Given the description of an element on the screen output the (x, y) to click on. 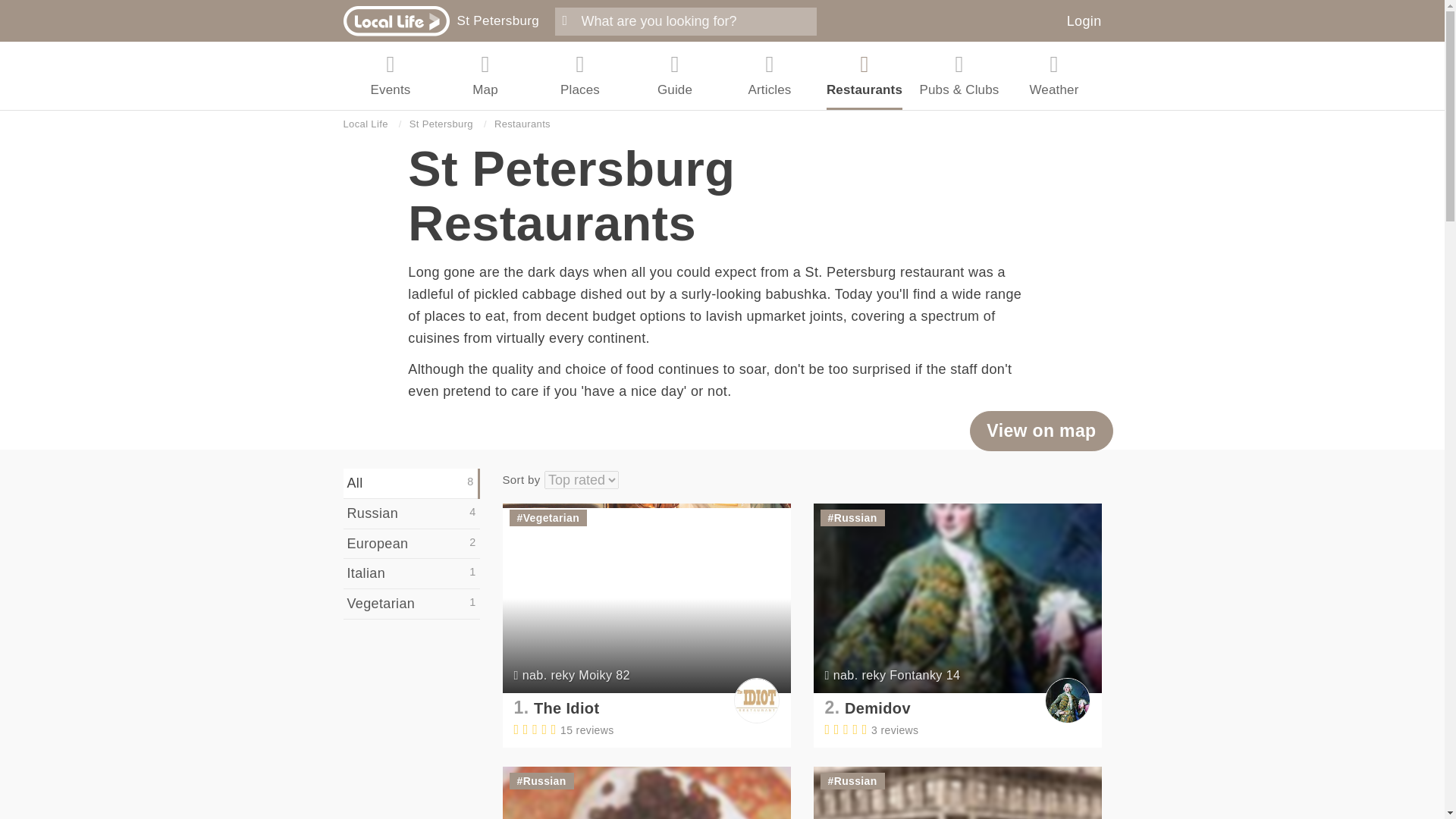
Vegetarian (550, 517)
European (410, 544)
The Idiot (566, 708)
St Petersburg (441, 124)
Local Life (364, 124)
Vegetarian (410, 603)
Russian (410, 513)
Russian (544, 780)
Demidov (877, 708)
All (409, 483)
Login (1084, 20)
Russian (855, 780)
Italian (410, 573)
St Petersburg (497, 20)
Russian (855, 517)
